Given the description of an element on the screen output the (x, y) to click on. 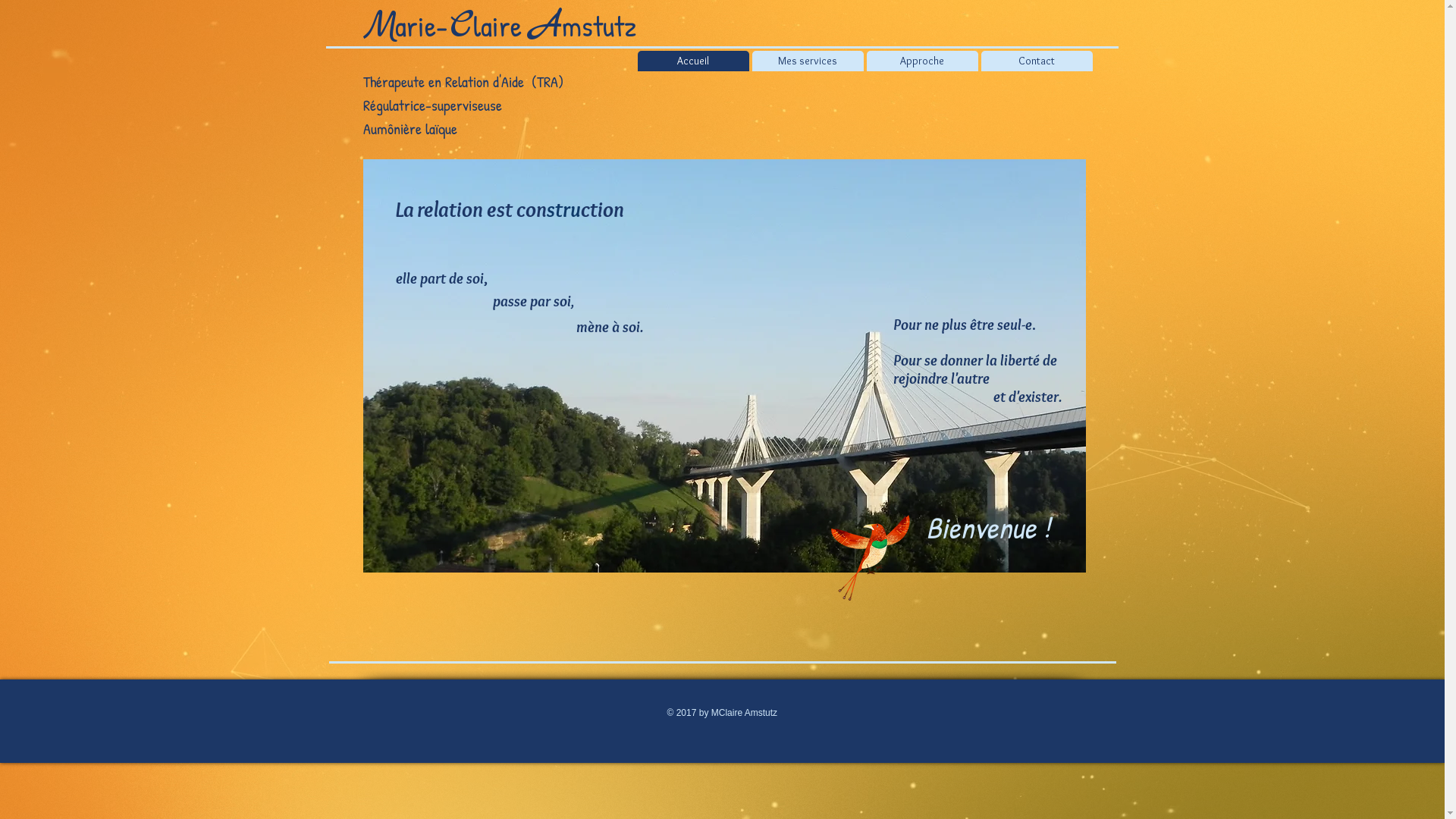
Approche Element type: text (921, 60)
Contact Element type: text (1036, 60)
Mes services Element type: text (807, 60)
Accueil Element type: text (692, 60)
Bienvenue ! Element type: text (987, 527)
